Given the description of an element on the screen output the (x, y) to click on. 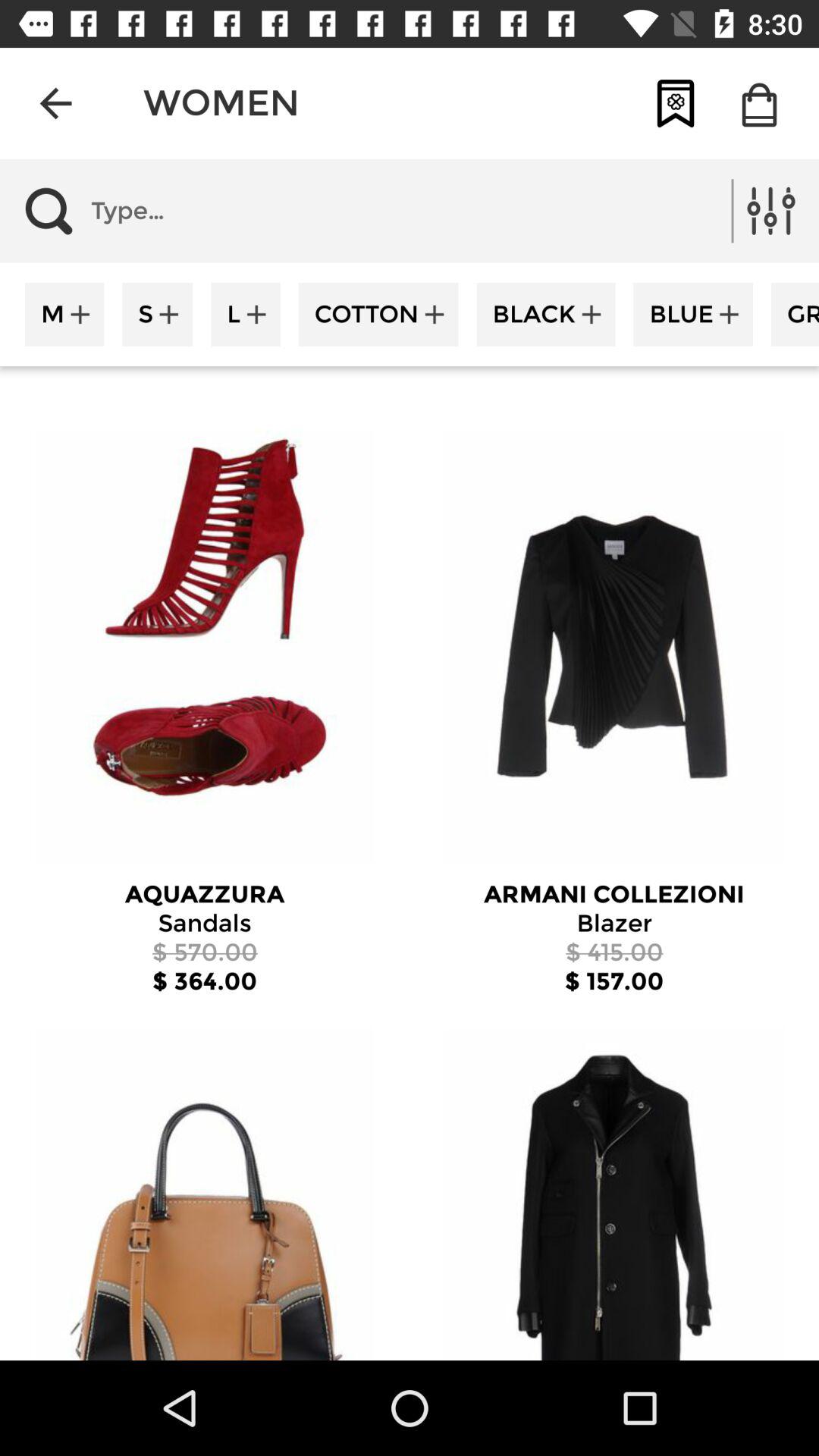
tap the item to the right of the l item (378, 314)
